Given the description of an element on the screen output the (x, y) to click on. 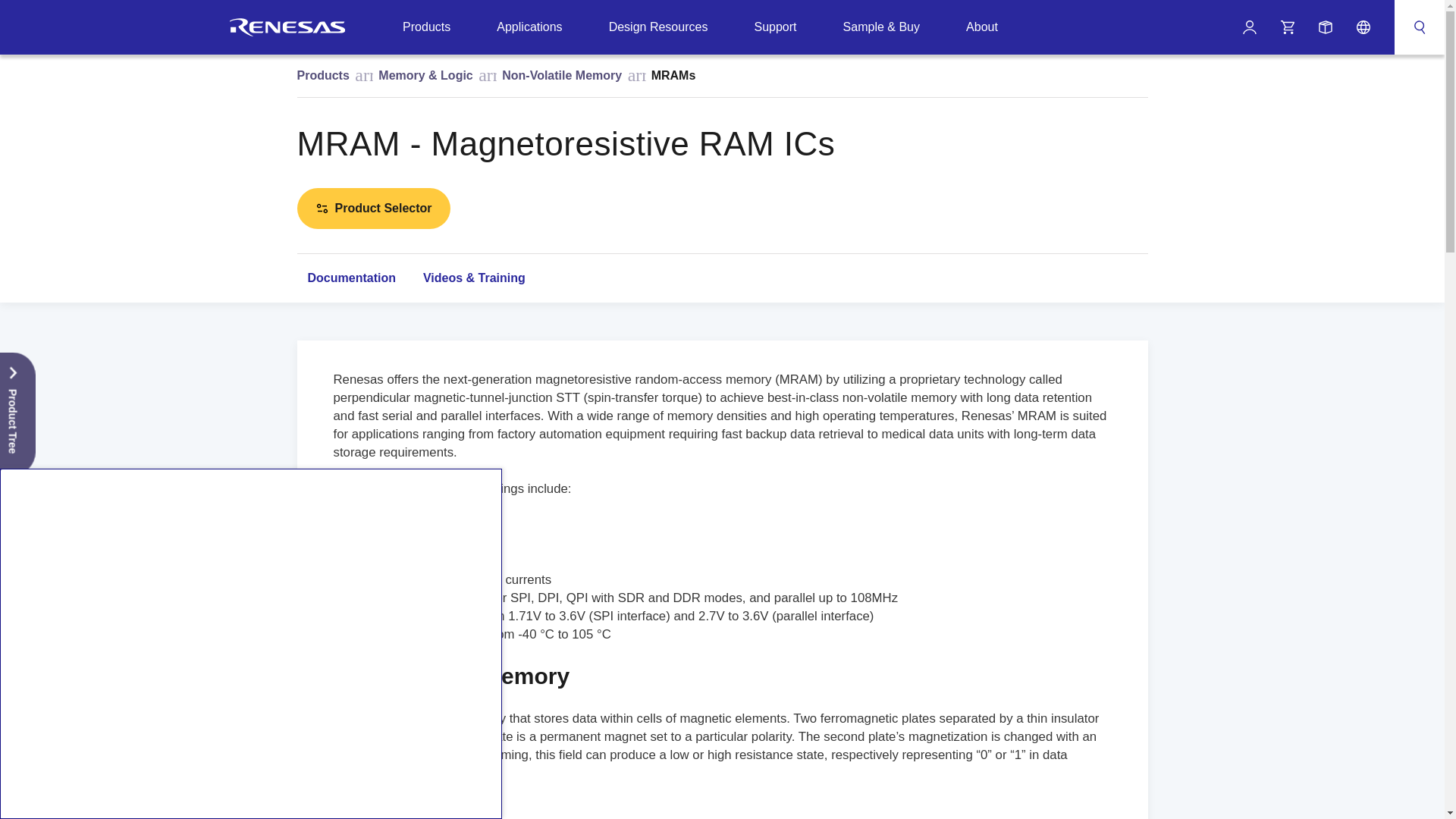
Renesas Electronics Corporation (287, 26)
Applications (529, 27)
Language (1363, 27)
